Given the description of an element on the screen output the (x, y) to click on. 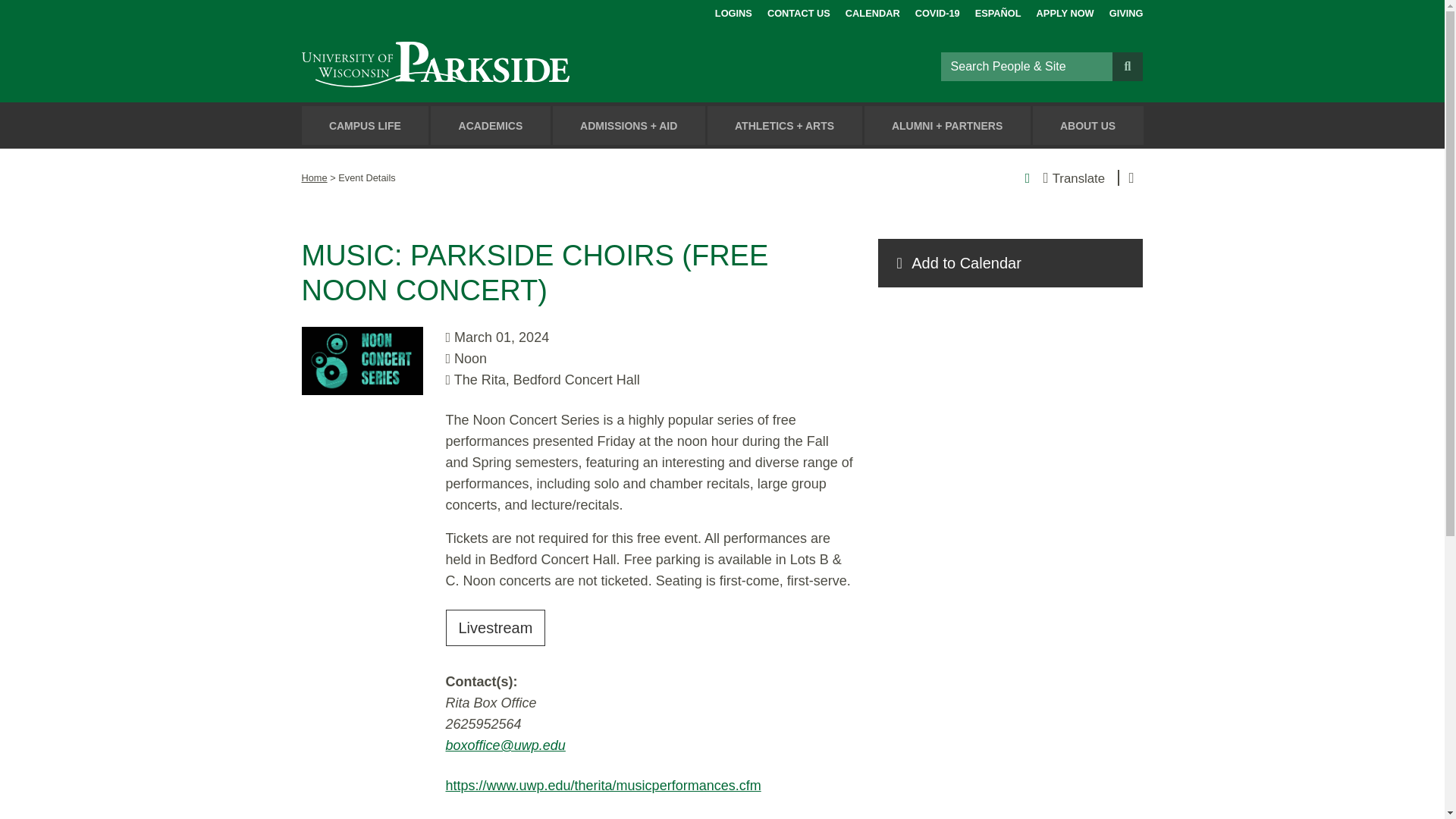
GIVING (1125, 11)
University of Wisconsin-Parkside (470, 66)
CALENDAR (872, 11)
CONTACT US (798, 11)
Skip to main content (18, 14)
University of Wisconsin-Parkside (470, 66)
APPLY NOW (1065, 11)
Download as .ics (1009, 263)
COVID-19 (937, 11)
LOGINS (733, 11)
